Given the description of an element on the screen output the (x, y) to click on. 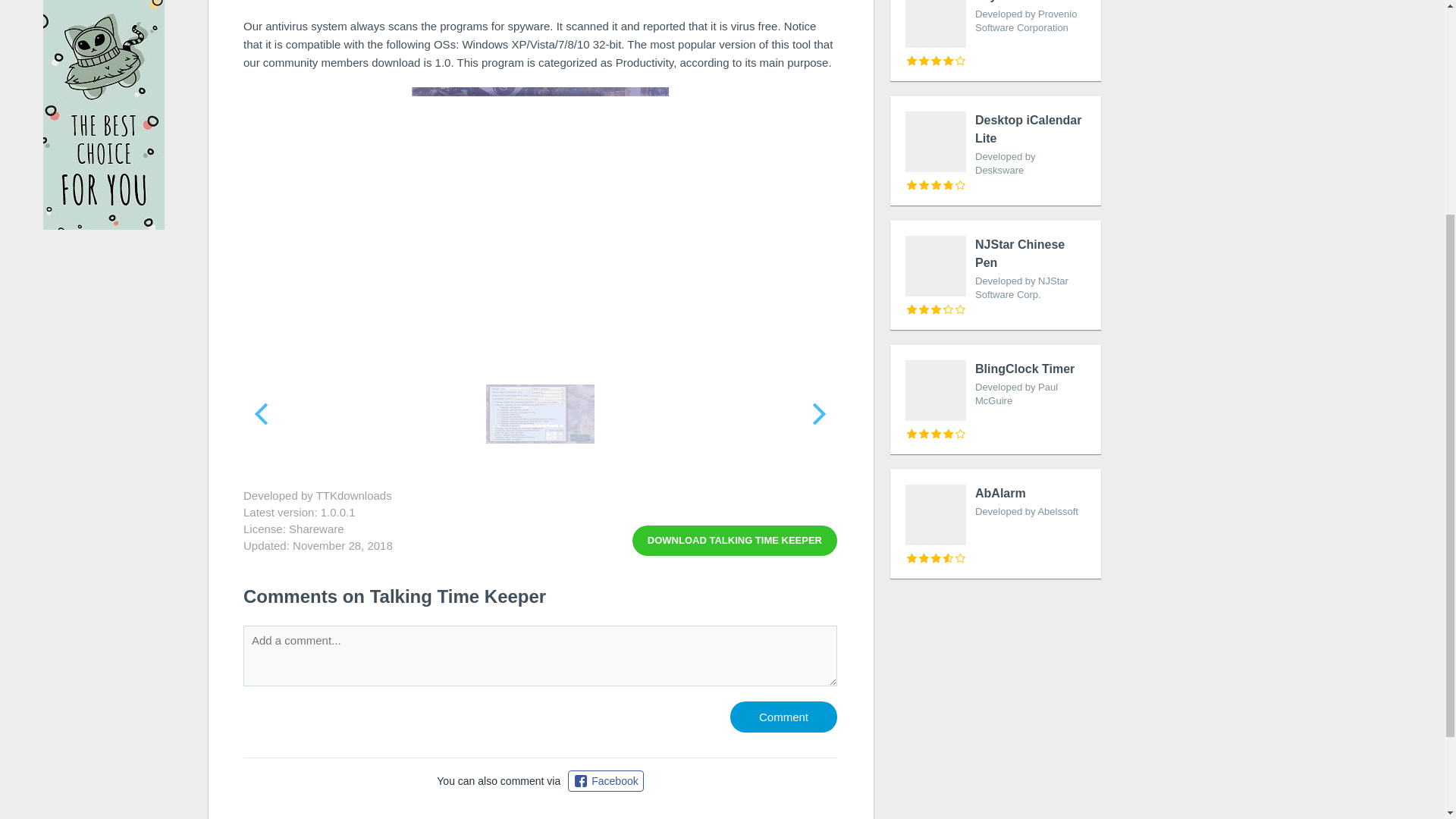
DOWNLOAD TALKING TIME KEEPER (994, 523)
Comment (734, 540)
Comment (994, 150)
Download Talking Time Keeper 1.0.0.1 for free (783, 716)
